Given the description of an element on the screen output the (x, y) to click on. 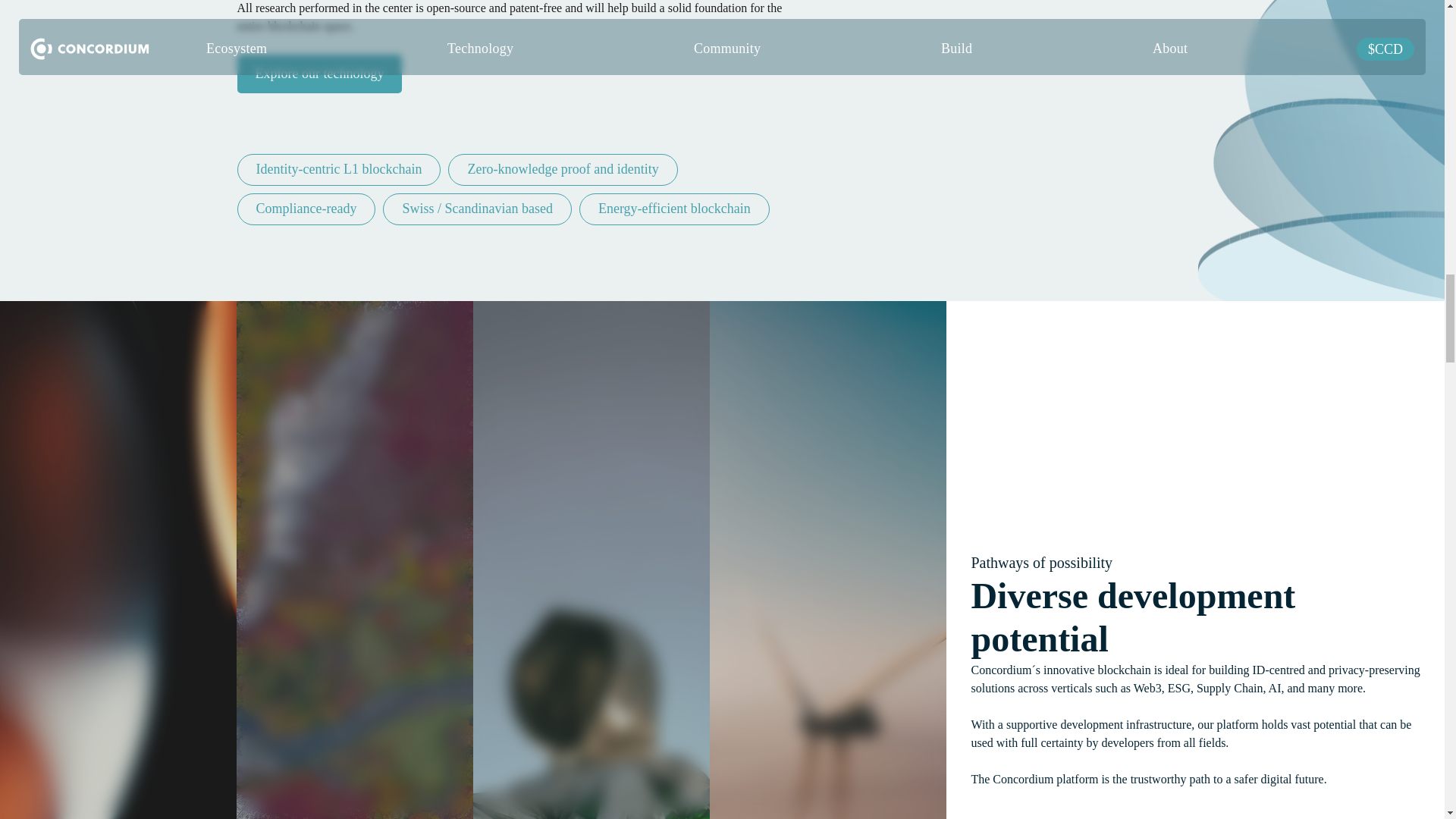
Explore our technology (318, 74)
